Given the description of an element on the screen output the (x, y) to click on. 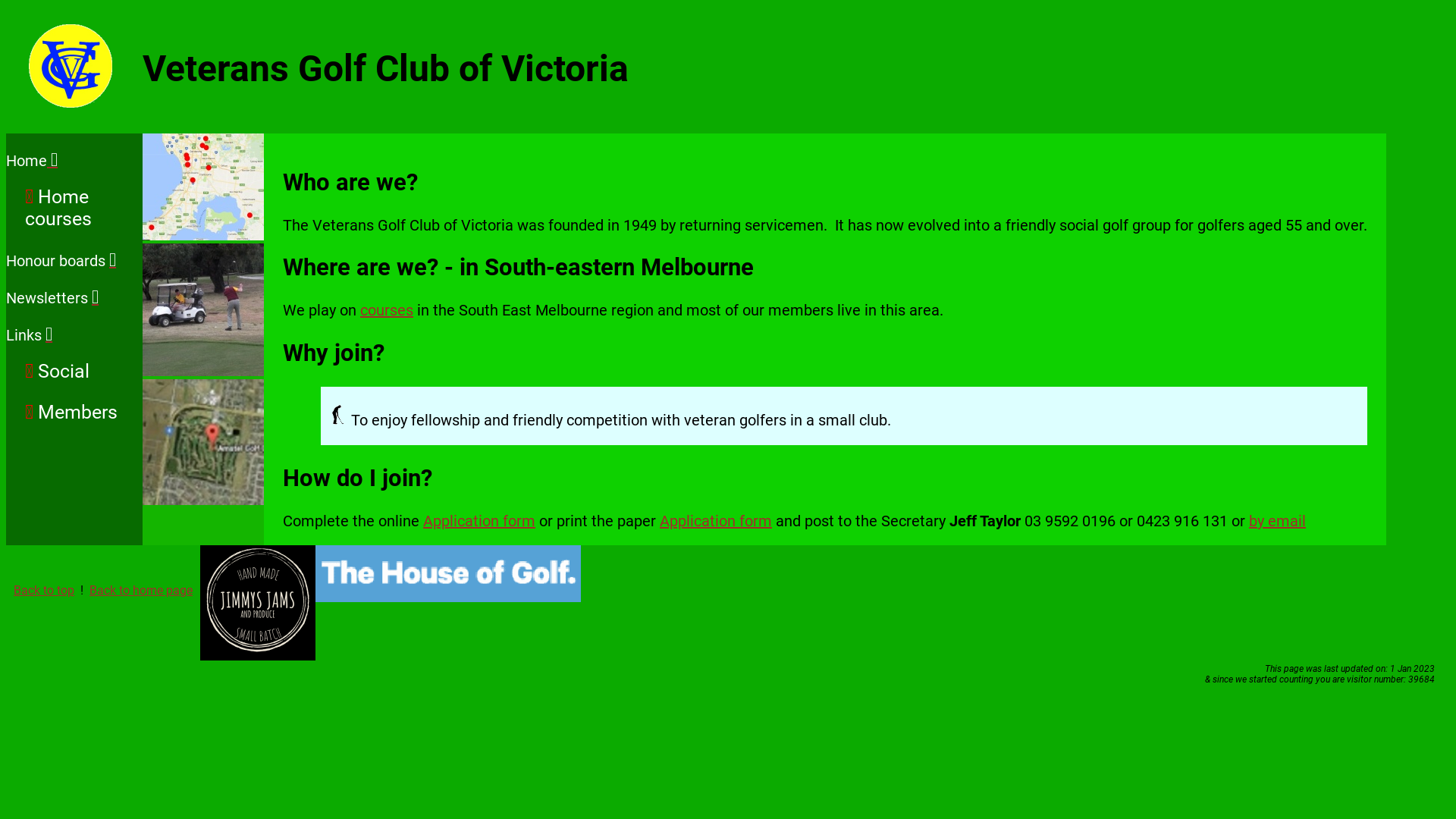
Club Sponsor Element type: hover (257, 602)
courses Element type: text (386, 310)
Back to home page Element type: text (140, 590)
Application form Element type: text (479, 520)
Application form Element type: text (715, 520)
Club Sponsor Element type: hover (447, 573)
by email Element type: text (1276, 520)
Club Logo Element type: hover (70, 65)
Back to top Element type: text (43, 590)
